Given the description of an element on the screen output the (x, y) to click on. 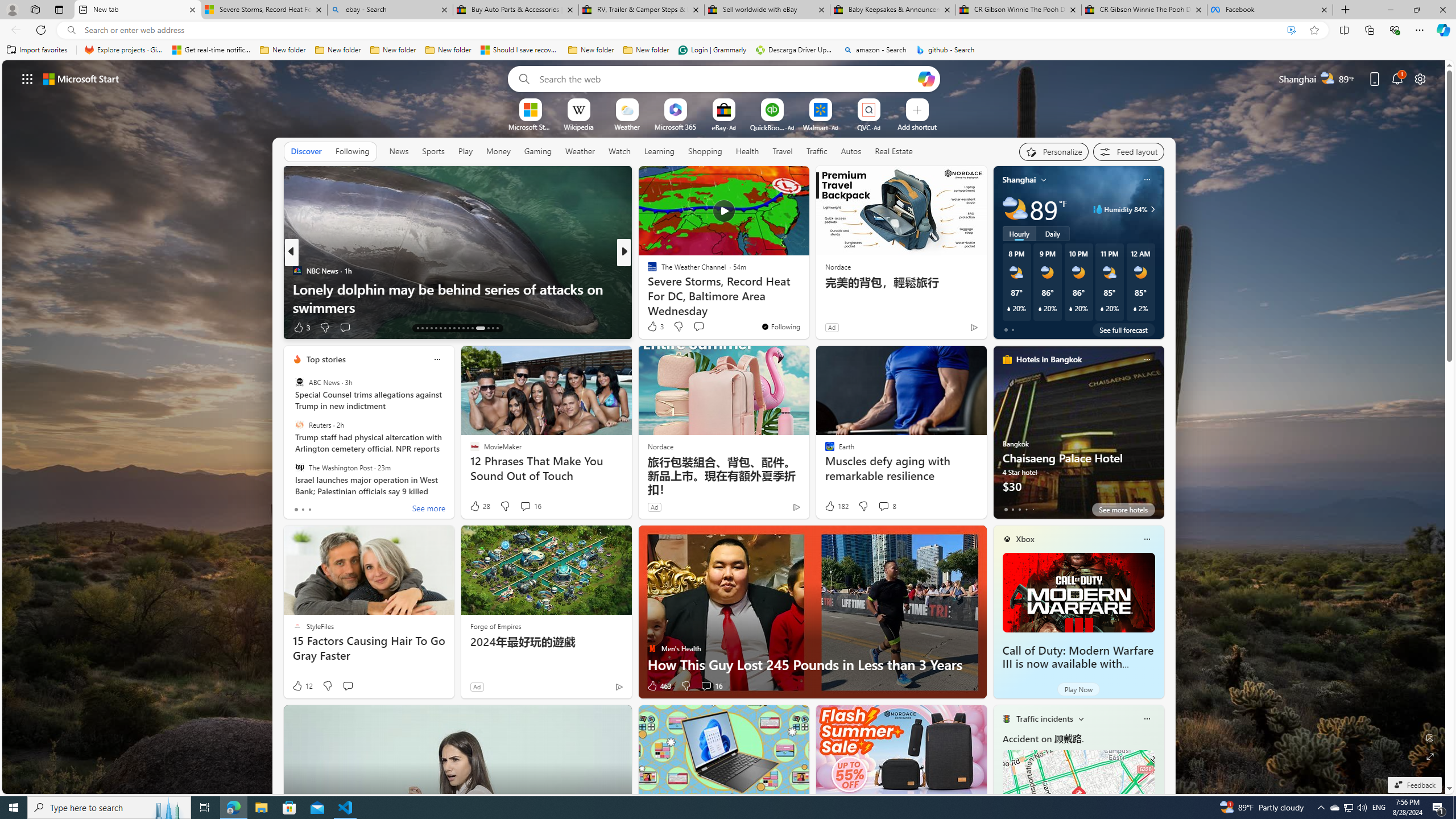
Autos (851, 151)
Edit Background (1430, 737)
AutomationID: tab-26 (480, 328)
RV, Trailer & Camper Steps & Ladders for sale | eBay (641, 9)
Login | Grammarly (712, 49)
tab-1 (1012, 509)
